Given the description of an element on the screen output the (x, y) to click on. 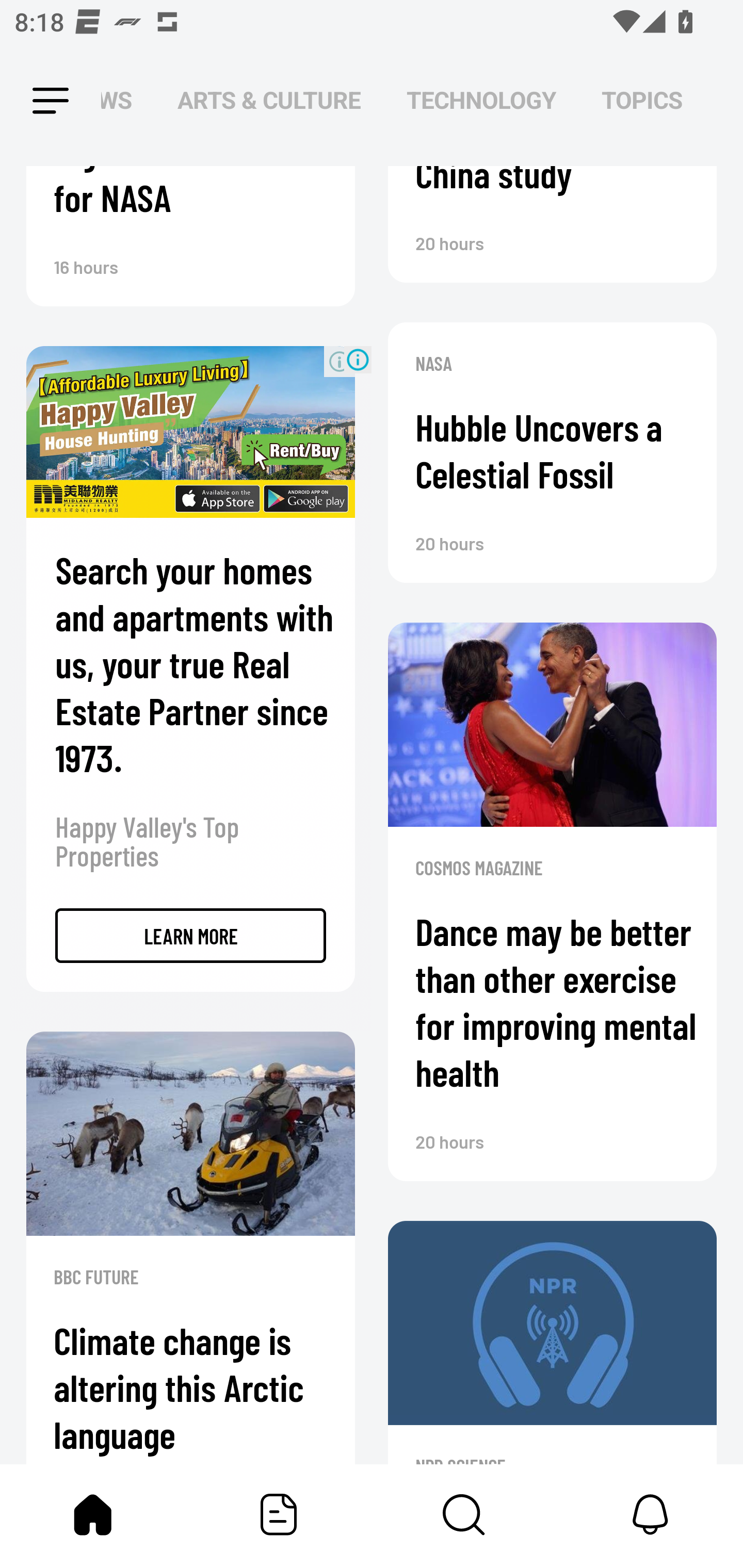
Leading Icon (32, 101)
NEWS (122, 100)
ARTS & CULTURE (269, 100)
TECHNOLOGY (481, 100)
TOPICS (641, 100)
Ad Choices Icon (357, 359)
Featured (278, 1514)
Content Store (464, 1514)
Notifications (650, 1514)
